Given the description of an element on the screen output the (x, y) to click on. 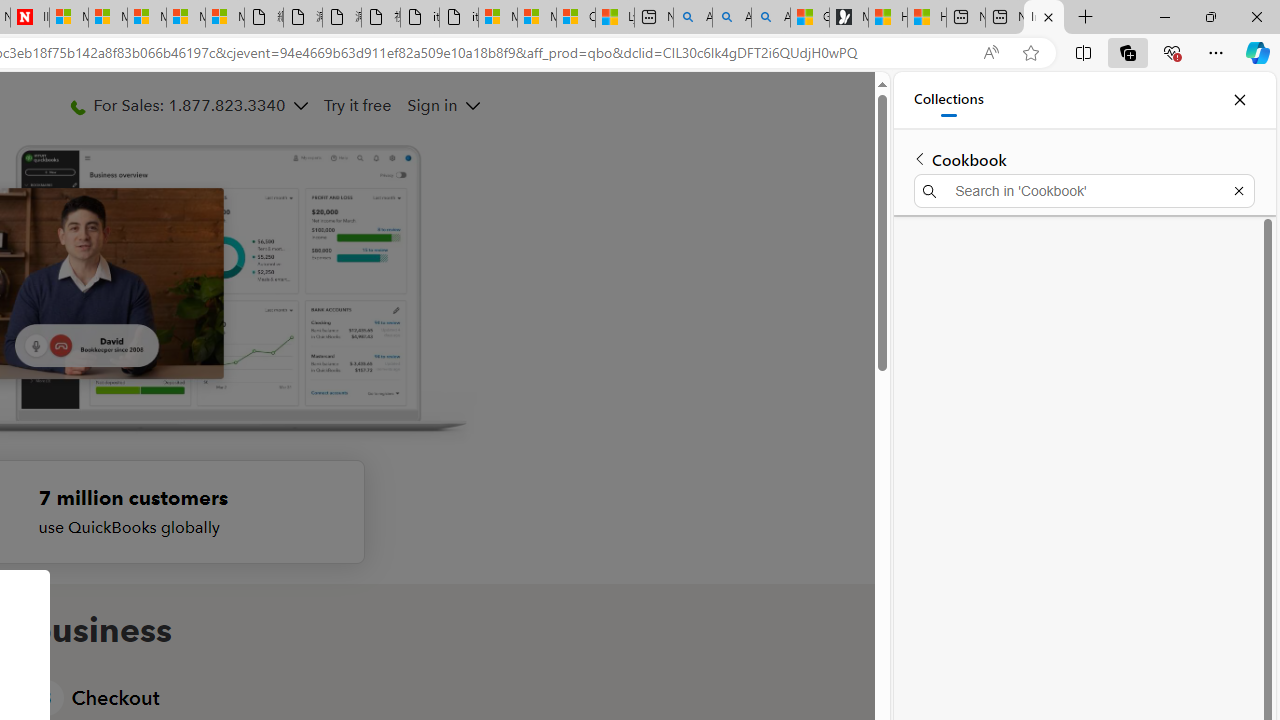
How to Use a TV as a Computer Monitor (926, 17)
Class: MenuItem_dDown__f585abf6 MenuItem_white__f585abf6 (472, 106)
Alabama high school quarterback dies - Search Videos (770, 17)
For Sales: 1.877.823.3340 (188, 105)
Try it free (356, 105)
